Given the description of an element on the screen output the (x, y) to click on. 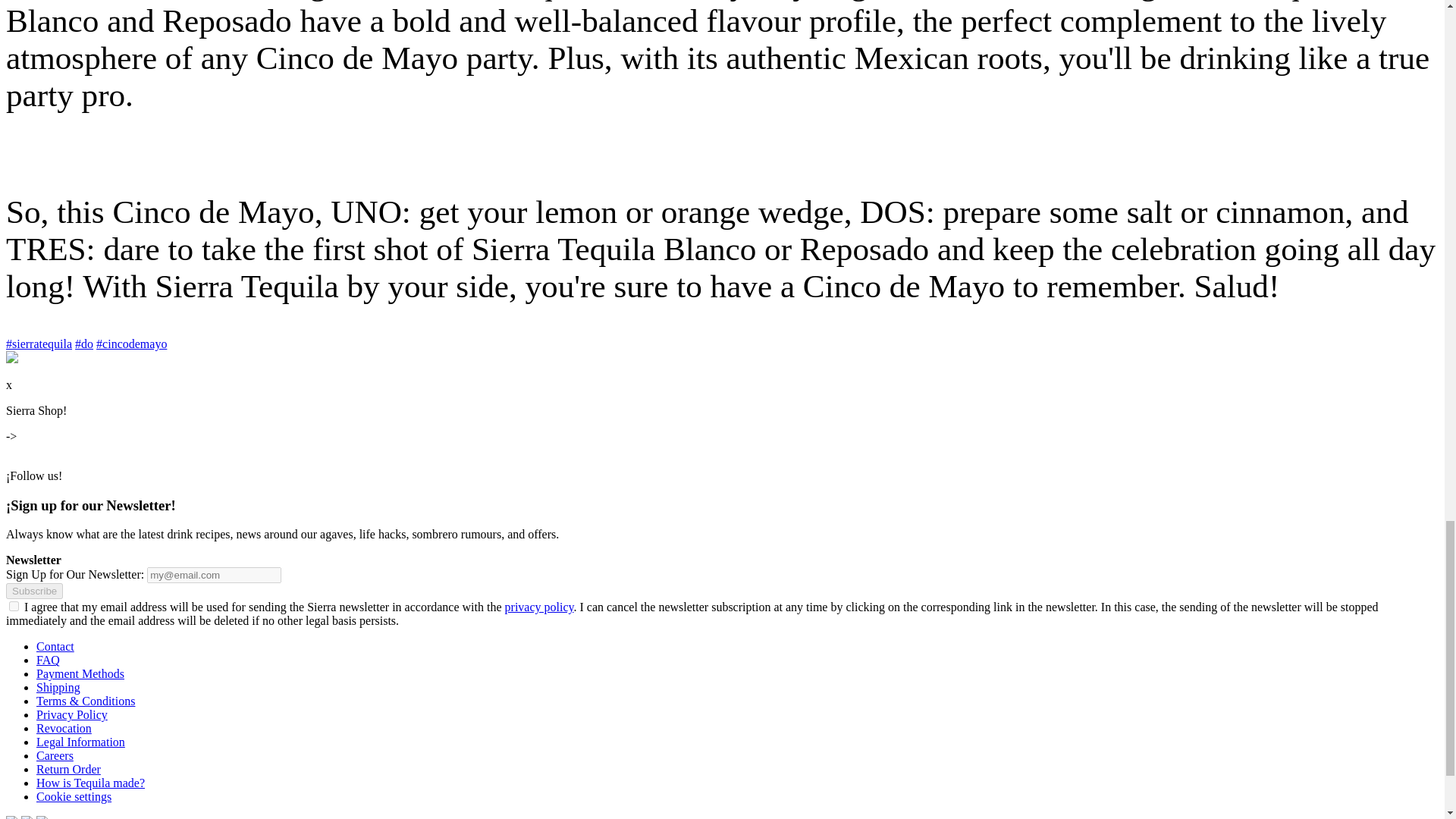
on (13, 605)
